Given the description of an element on the screen output the (x, y) to click on. 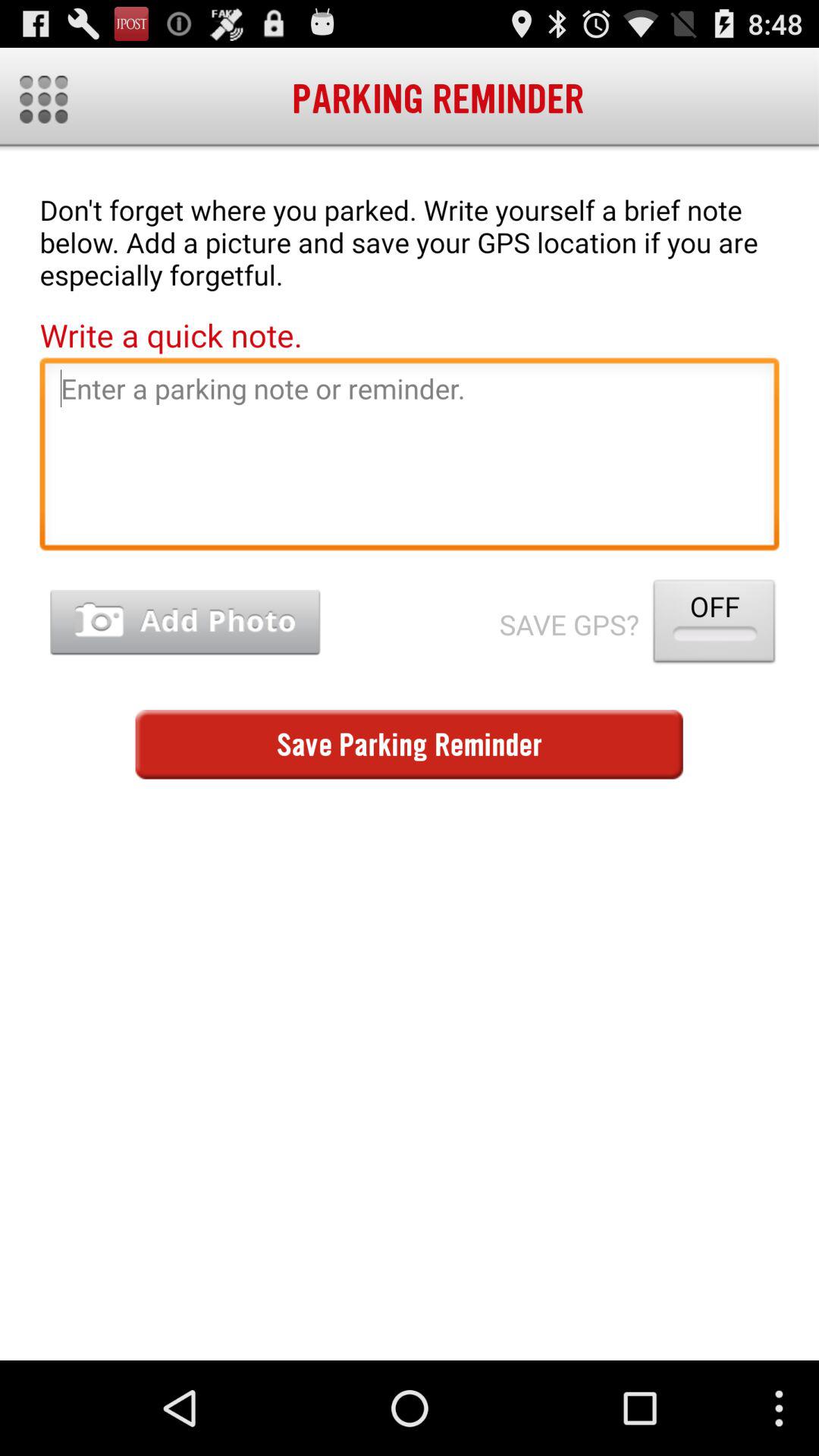
add photo (185, 622)
